Given the description of an element on the screen output the (x, y) to click on. 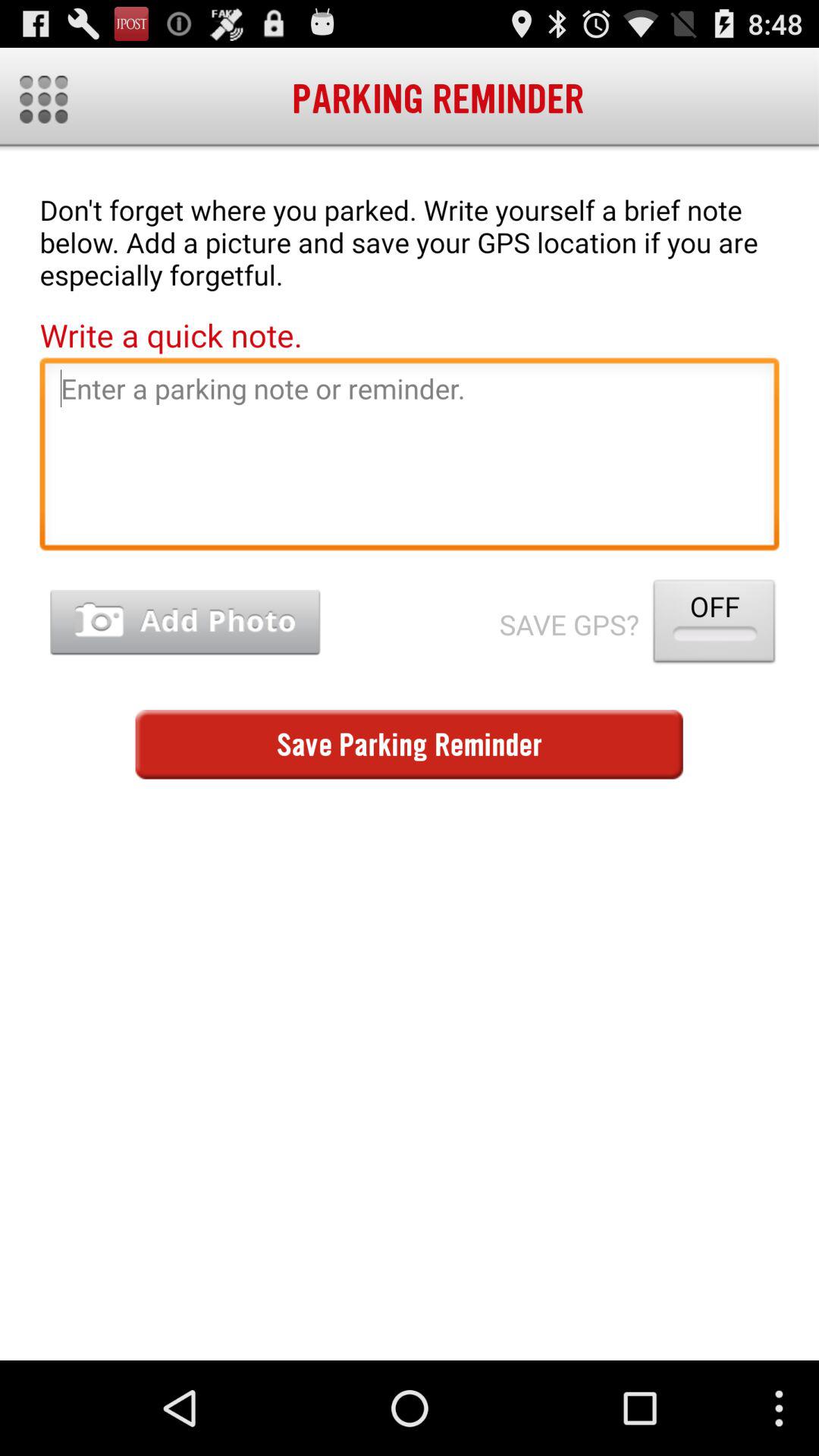
add photo (185, 622)
